Given the description of an element on the screen output the (x, y) to click on. 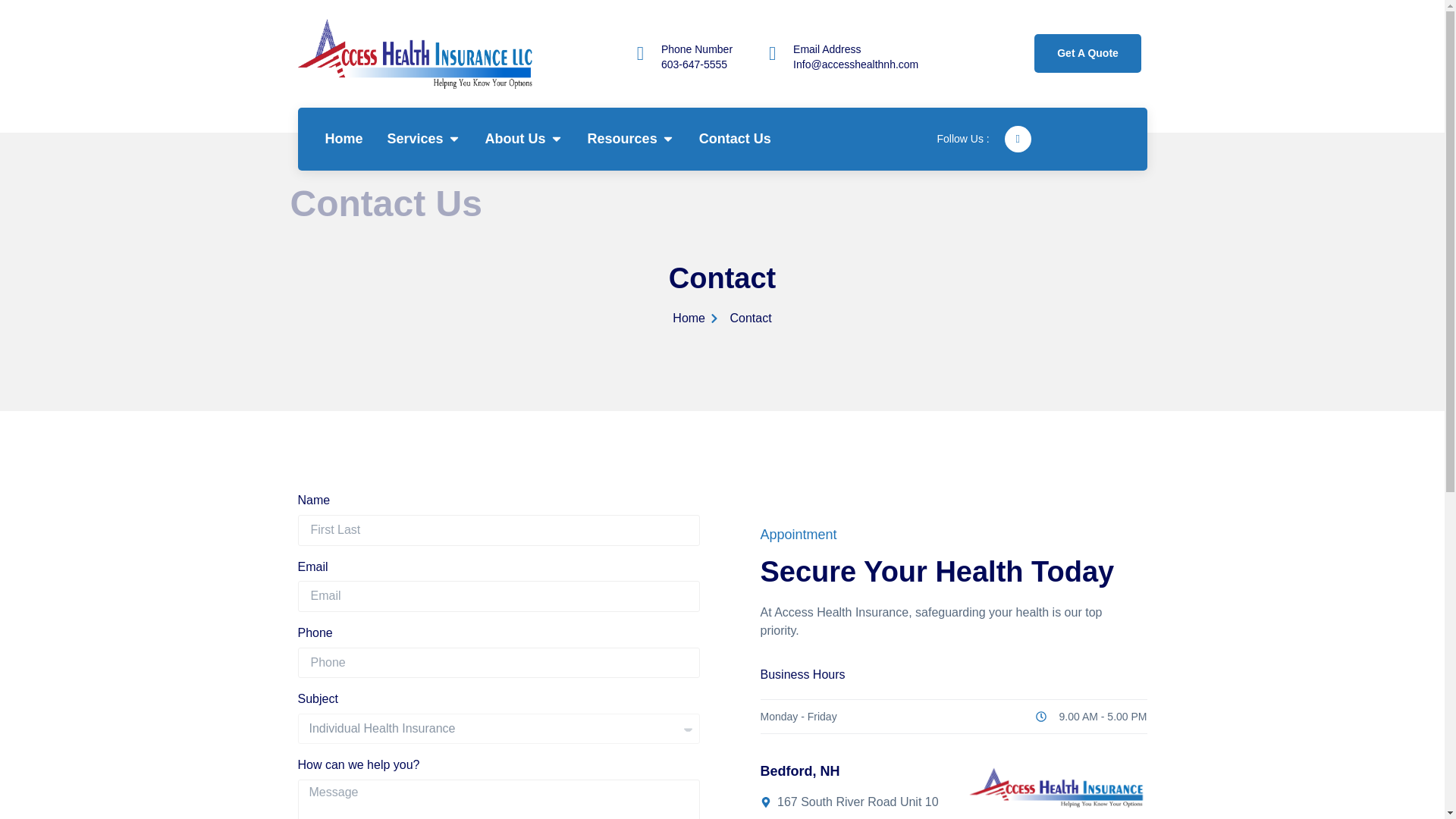
Get A Quote (1087, 53)
Home (343, 138)
Contact Us (734, 138)
